Given the description of an element on the screen output the (x, y) to click on. 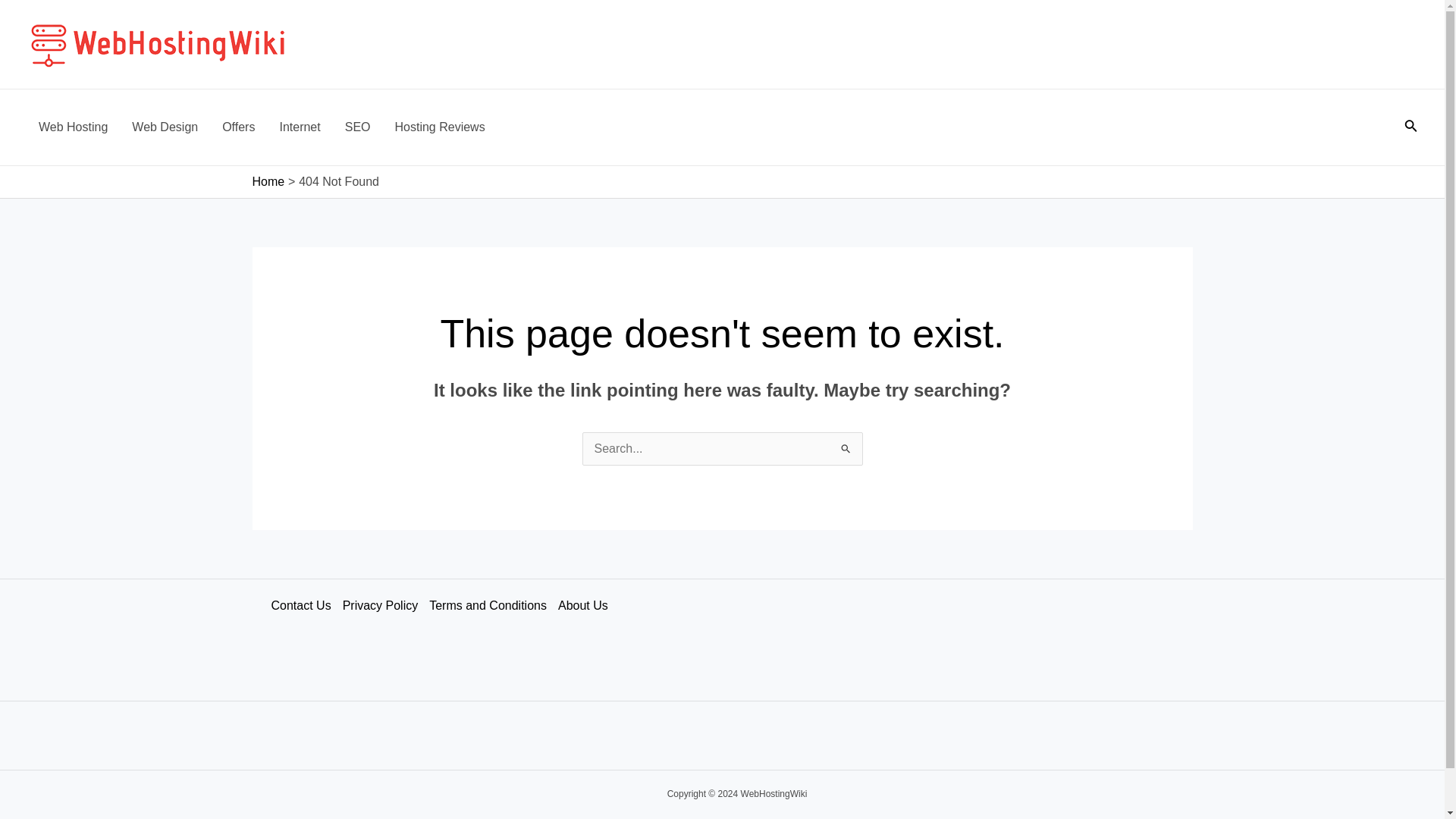
Hosting Reviews (439, 127)
Terms and Conditions (493, 605)
Search (844, 446)
Search (844, 446)
Web Hosting (72, 127)
About Us (588, 605)
Privacy Policy (385, 605)
Contact Us (306, 605)
Search (844, 446)
Home (267, 181)
Web Design (164, 127)
